Given the description of an element on the screen output the (x, y) to click on. 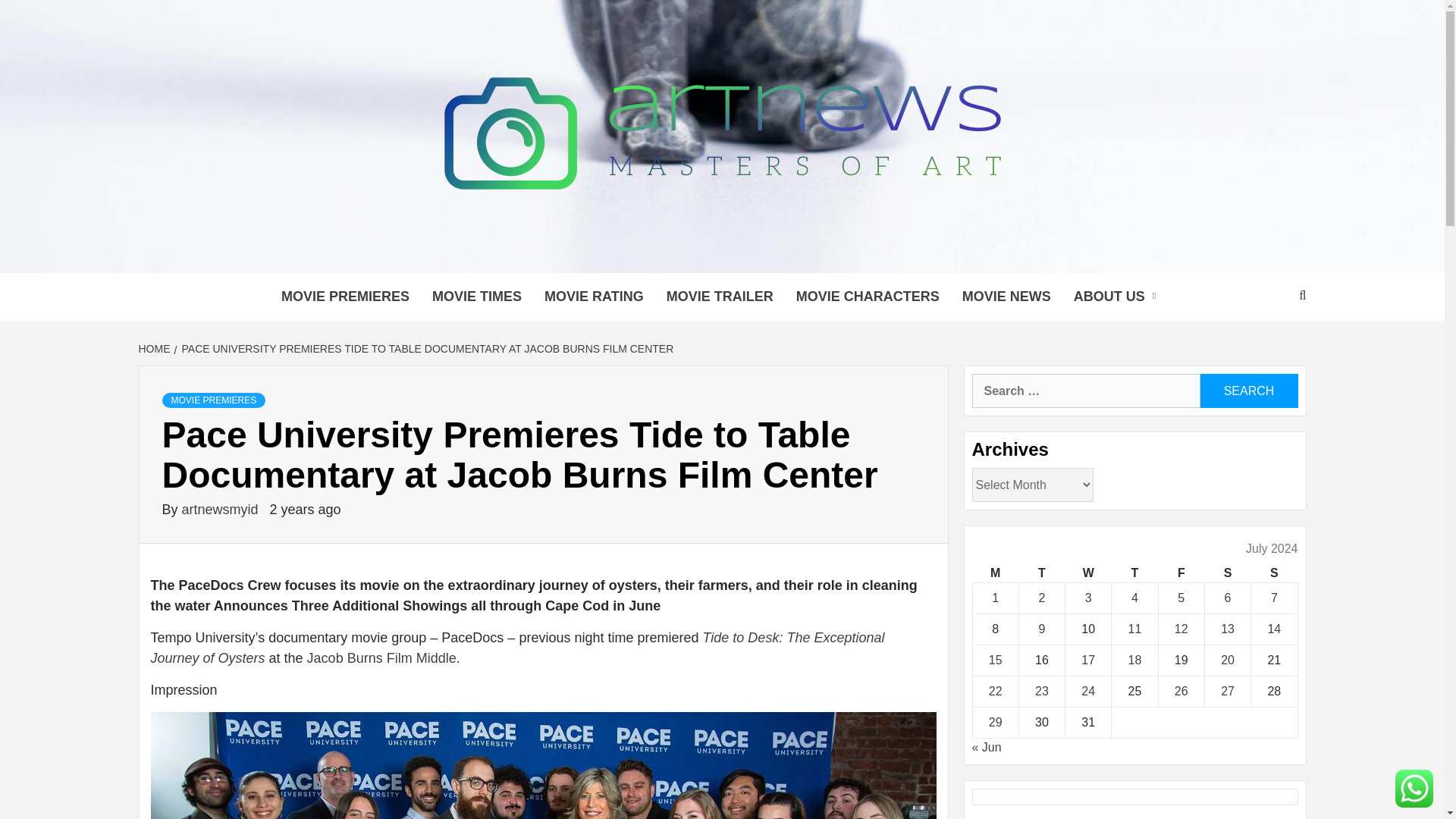
HOME (155, 348)
artnewsmyid (222, 509)
MOVIE PREMIERES (344, 296)
ARTNEWS (333, 253)
MOVIE TRAILER (719, 296)
Thursday (1134, 573)
ABOUT US (1118, 296)
Tide to Desk: The Exceptional Journey of Oysters (516, 647)
Saturday (1227, 573)
Monday (994, 573)
Jacob Burns Film Middle (382, 657)
Tuesday (1040, 573)
MOVIE PREMIERES (213, 400)
Search (1248, 390)
